Given the description of an element on the screen output the (x, y) to click on. 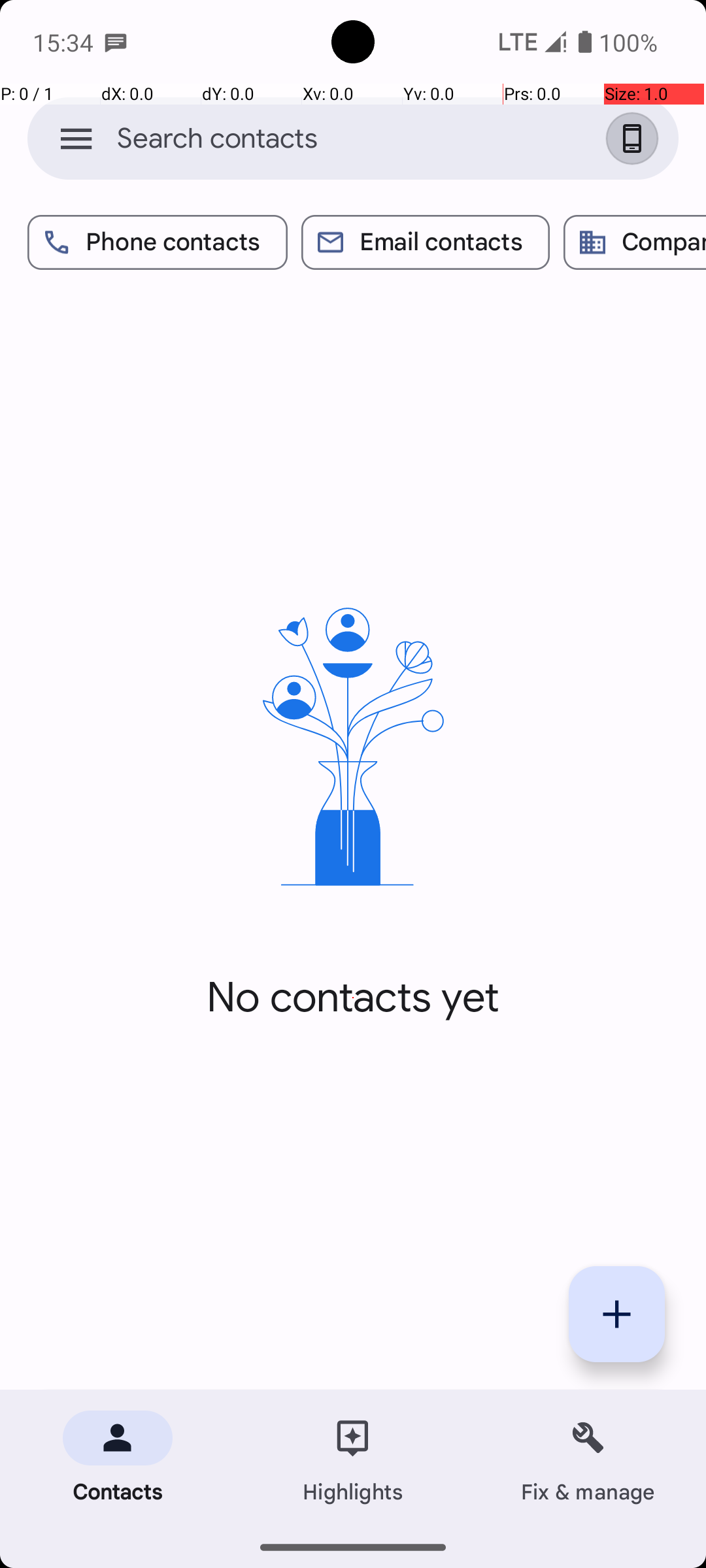
No contacts yet Element type: android.widget.TextView (353, 997)
